Given the description of an element on the screen output the (x, y) to click on. 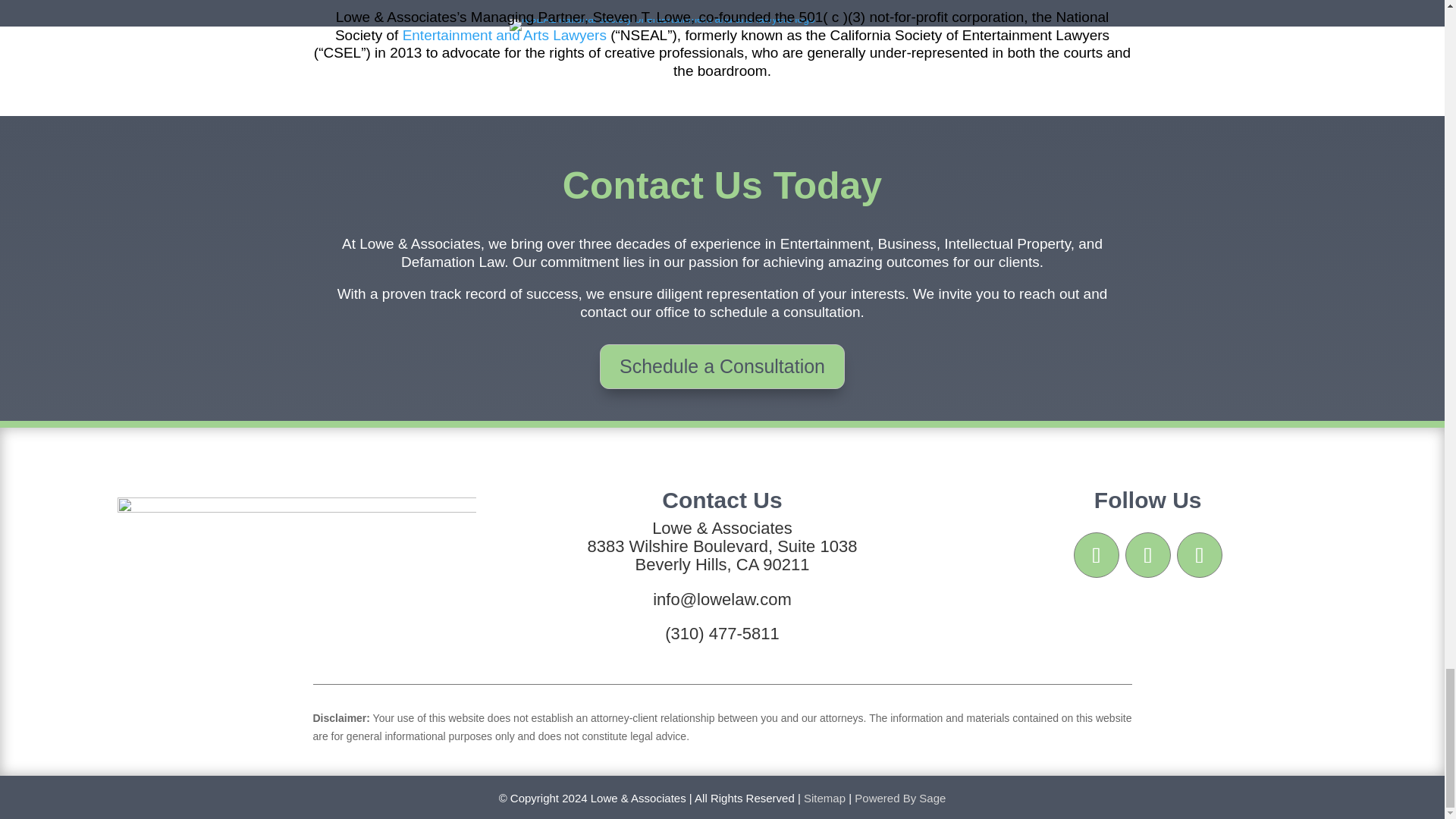
Nseal-national-society-of-entertainment-and-arts-lawyers (662, 24)
